Given the description of an element on the screen output the (x, y) to click on. 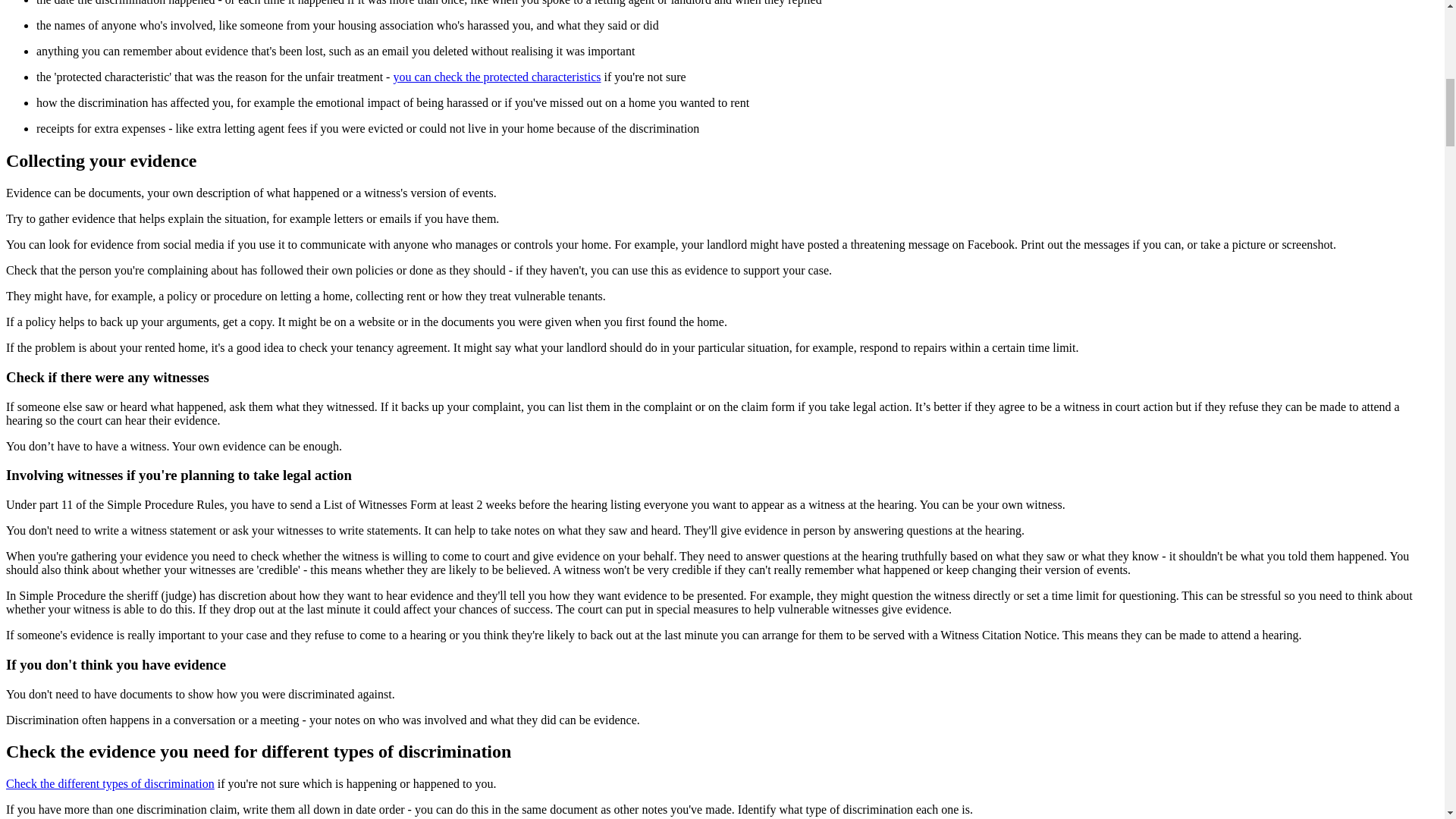
you can check the protected characteristics (496, 76)
Check the different types of discrimination (109, 783)
